Given the description of an element on the screen output the (x, y) to click on. 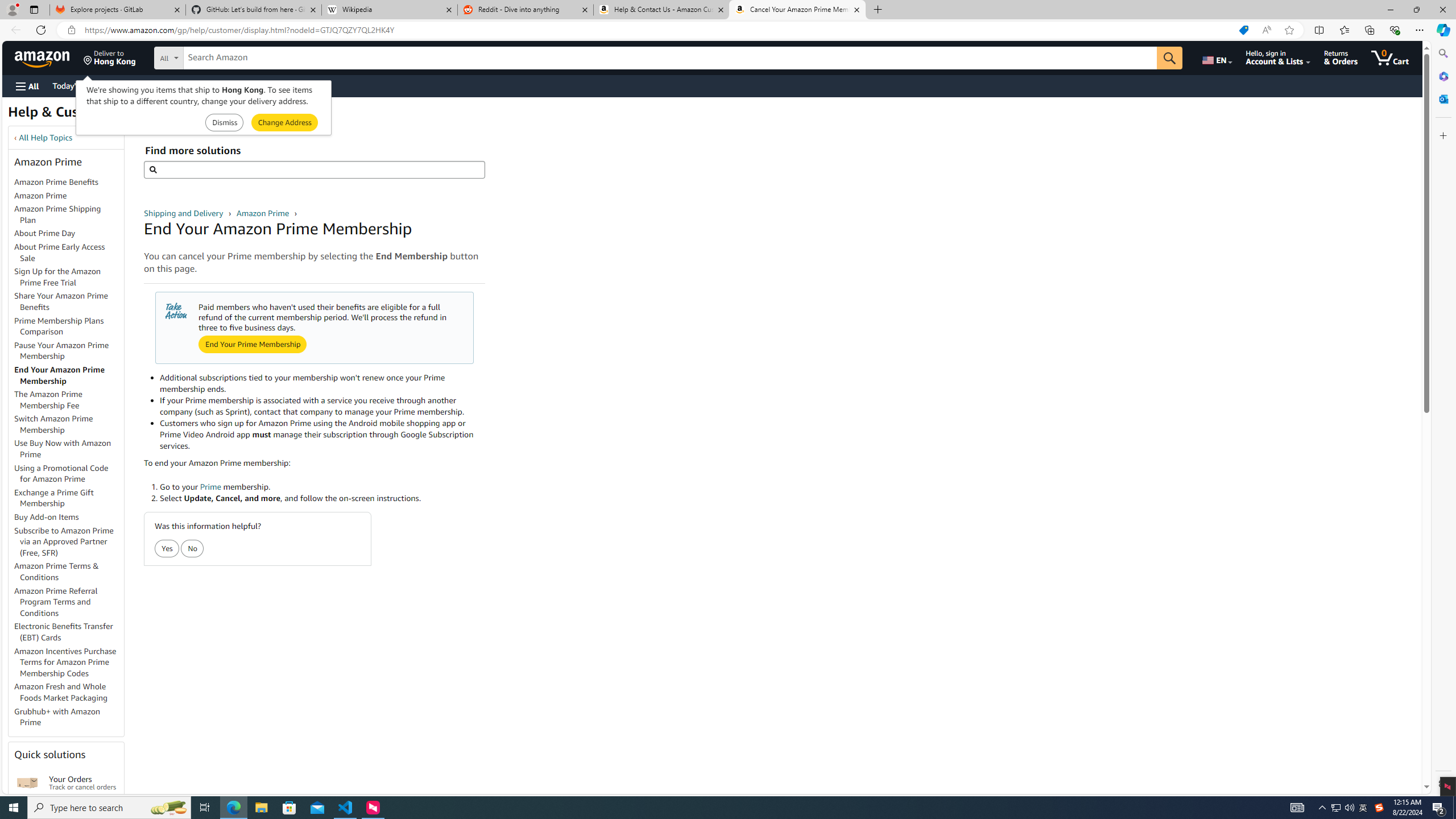
Amazon Prime Benefits (56, 181)
Amazon Fresh and Whole Foods Market Packaging (68, 692)
Reddit - Dive into anything (525, 9)
Pause Your Amazon Prime Membership (61, 350)
Skip to main content (48, 56)
Gift Cards (251, 85)
Hello, sign in Account & Lists (1278, 57)
Amazon (43, 57)
Customer Service (145, 85)
Today's Deals (76, 85)
Amazon Fresh and Whole Foods Market Packaging (60, 691)
Electronic Benefits Transfer (EBT) Cards (63, 631)
